Given the description of an element on the screen output the (x, y) to click on. 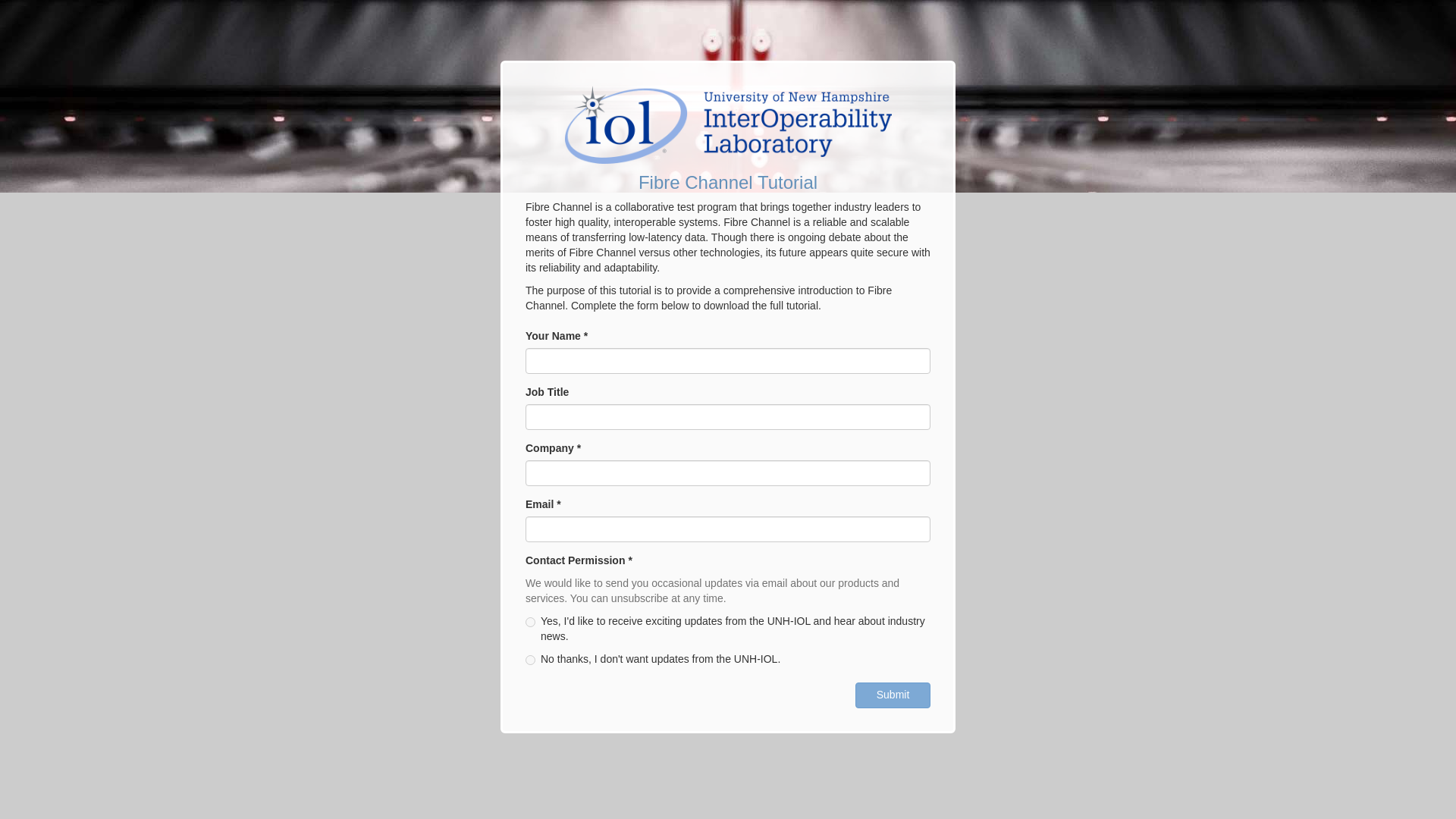
Yes (530, 622)
No (530, 660)
